Given the description of an element on the screen output the (x, y) to click on. 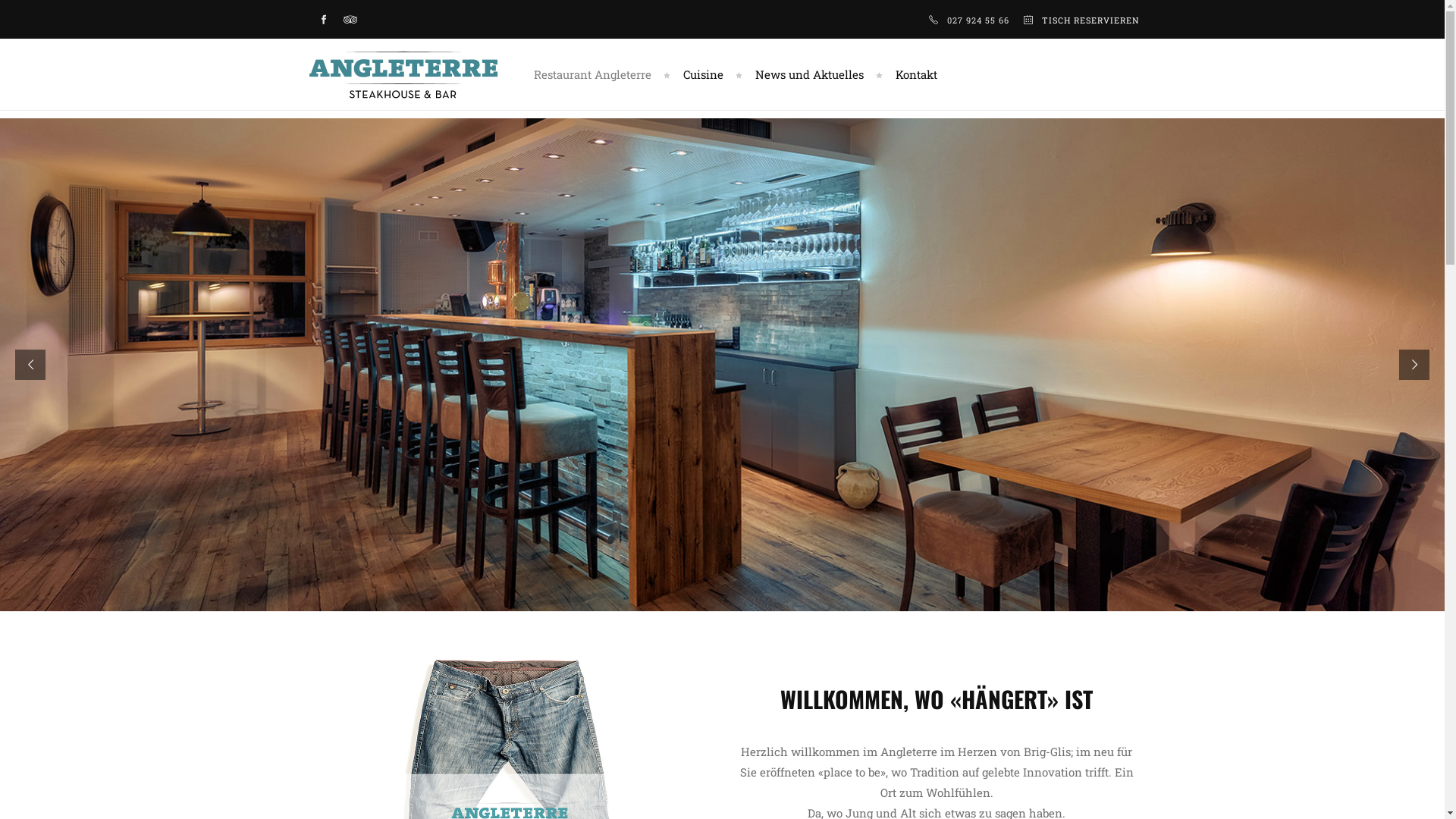
News und Aktuelles Element type: text (811, 73)
Cuisine Element type: text (706, 73)
TISCH RESERVIEREN Element type: text (1090, 19)
Restaurant Angleterre Element type: text (593, 73)
Kontakt Element type: text (909, 73)
